Given the description of an element on the screen output the (x, y) to click on. 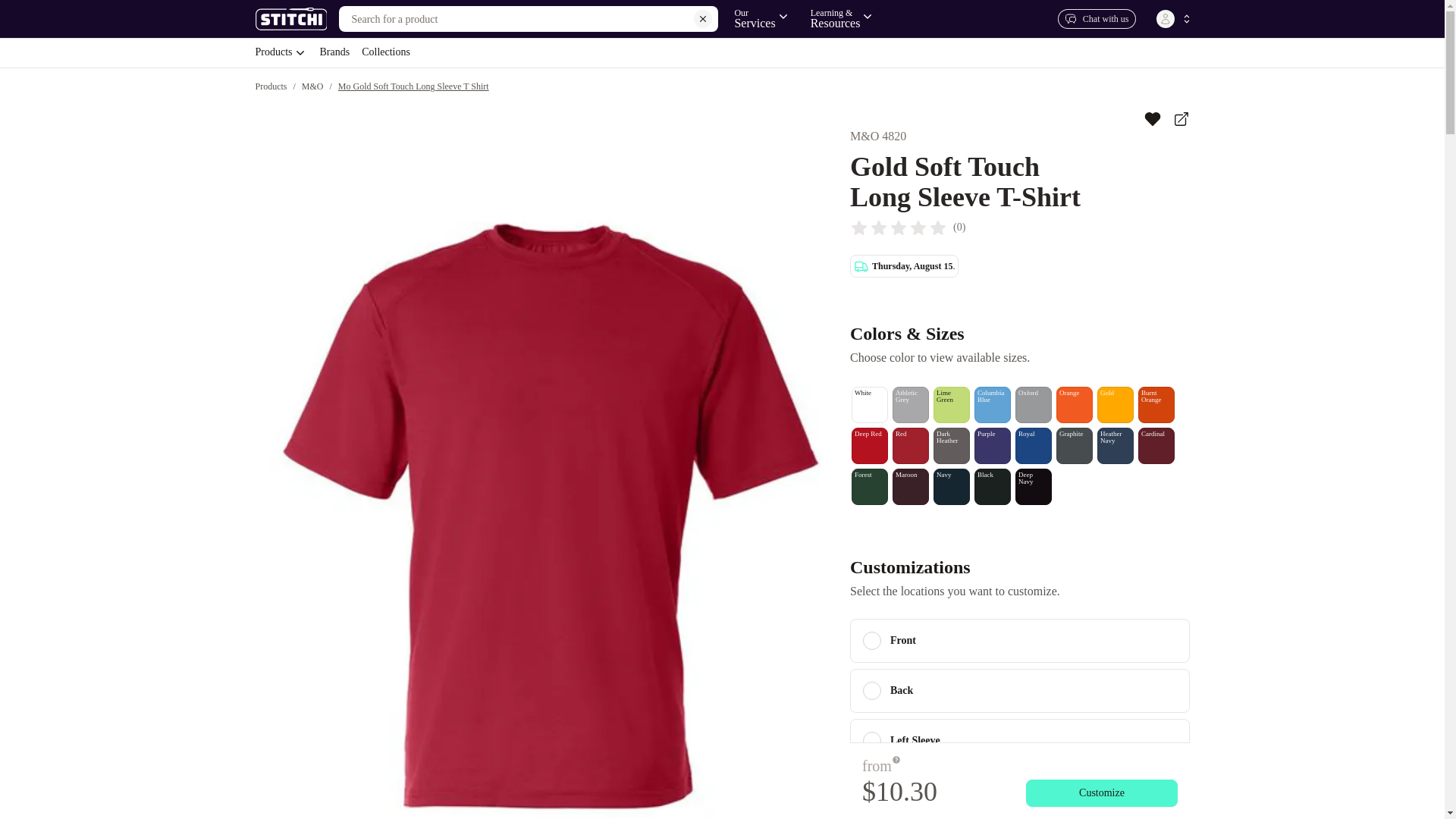
Products (721, 52)
checked (280, 52)
Chat with us (871, 741)
checked (1096, 18)
checked (871, 791)
checked (871, 640)
